Given the description of an element on the screen output the (x, y) to click on. 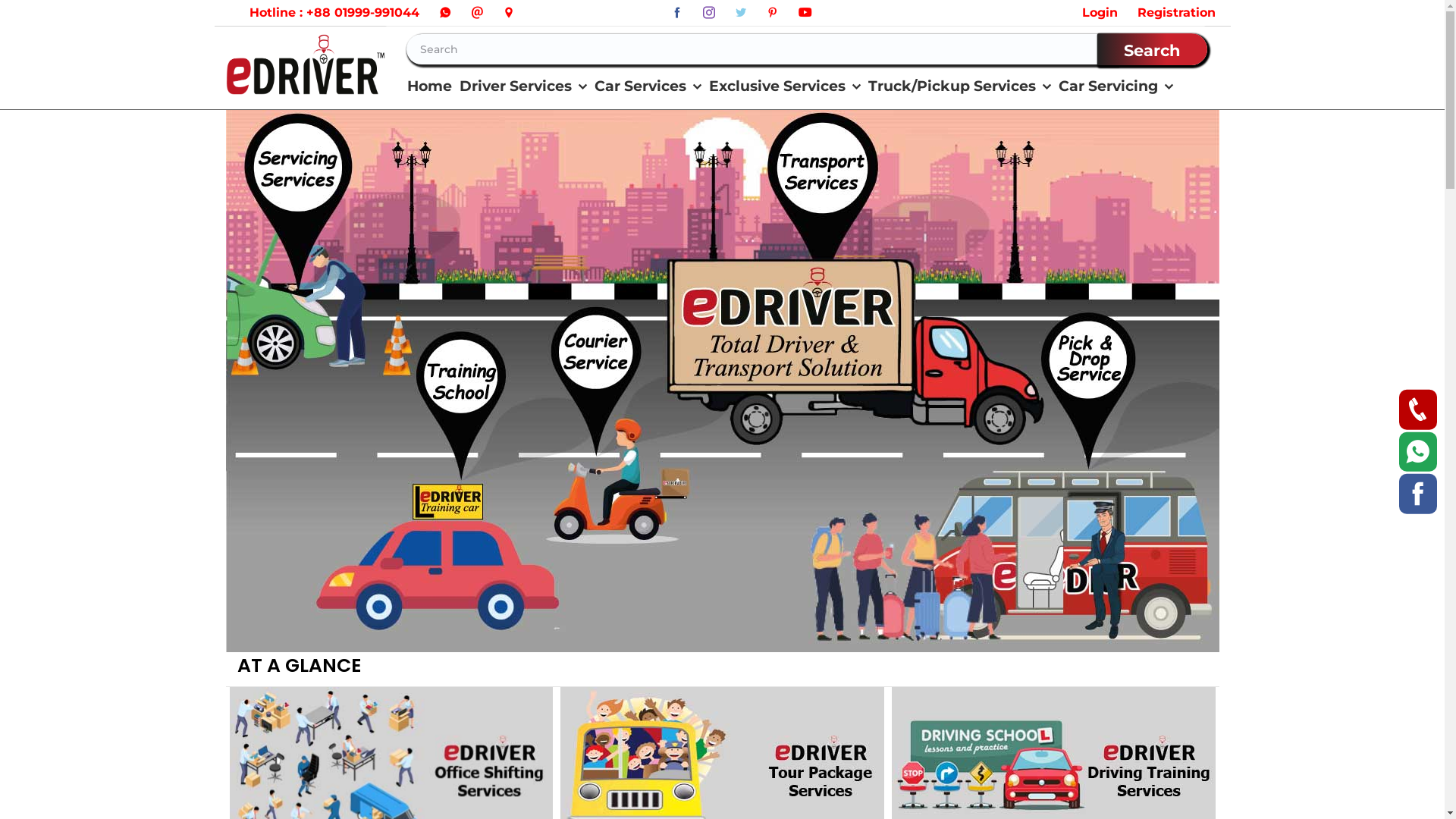
Exclusive Services Element type: text (786, 86)
Login Element type: text (1089, 12)
Car Servicing Element type: text (1117, 86)
Registration Element type: text (1166, 12)
Whatsapp Element type: text (1418, 451)
Car Services Element type: text (649, 86)
Driver Services Element type: text (524, 86)
Facebook Element type: text (1418, 493)
Truck/Pickup Services Element type: text (961, 86)
Call Us Element type: text (1418, 409)
Hotline : +88 01999-991044 Element type: text (323, 12)
Home Element type: text (429, 86)
Search Element type: text (1152, 49)
